Given the description of an element on the screen output the (x, y) to click on. 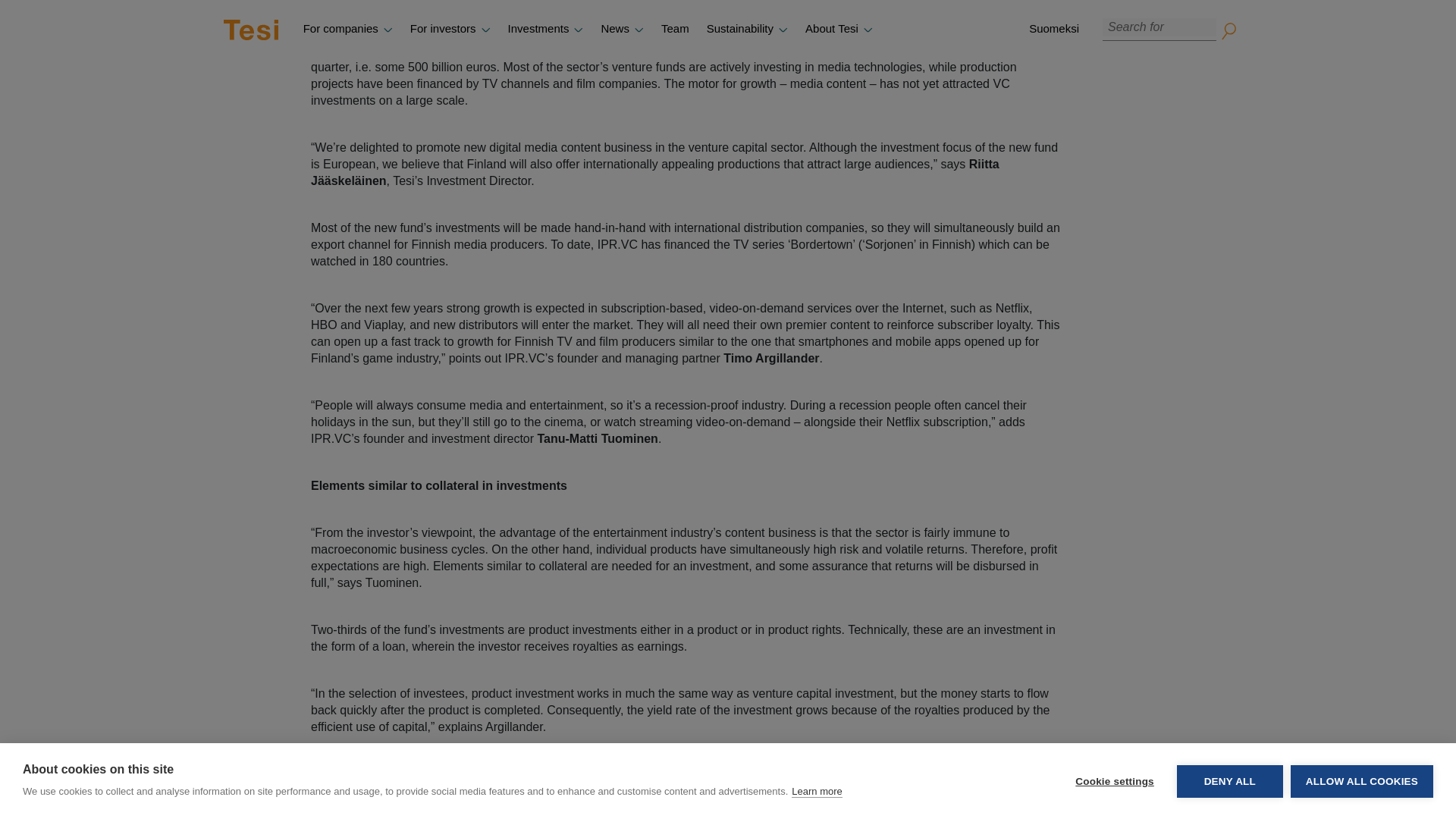
DENY ALL (1229, 5)
Cookie settings (1114, 13)
